Given the description of an element on the screen output the (x, y) to click on. 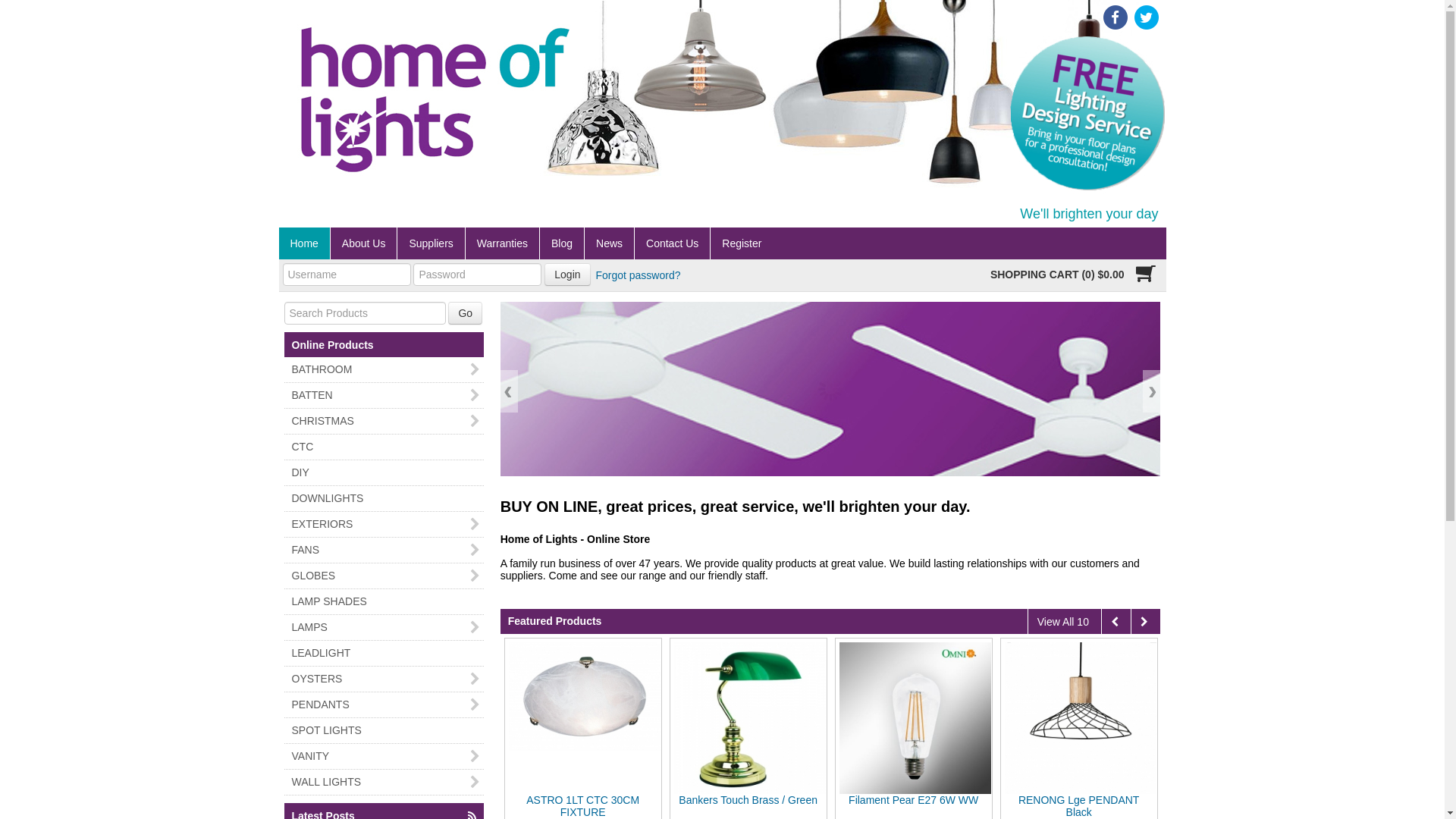
Search Products Element type: hover (465, 312)
News Element type: text (608, 243)
Blog Element type: text (561, 243)
LAMPS Element type: text (383, 627)
Contact Us Element type: text (671, 243)
ASTRO 1LT CTC 30CM FIXTURE Element type: text (747, 805)
CTC Element type: text (383, 446)
Forgot password? Element type: text (637, 275)
DOWNLIGHTS Element type: text (383, 498)
SPOT LIGHTS Element type: text (383, 730)
HELEN WALL LIGHT + SWITCH BLACK Element type: text (582, 805)
BATTEN Element type: text (383, 394)
Online Products Element type: text (332, 341)
Go Element type: text (465, 312)
DIY Element type: text (383, 472)
Home Element type: text (304, 243)
Bankers Touch Brass / Green - Click for more info Element type: hover (749, 717)
Login Element type: text (566, 274)
Bankers Touch Brass / Green Element type: text (913, 799)
PENDANTS Element type: text (383, 704)
LAMP SHADES Element type: text (383, 601)
OYSTERS Element type: text (383, 678)
VANITY Element type: text (383, 755)
EXTERIORS Element type: text (383, 523)
Warranties Element type: text (502, 243)
CHRISTMAS Element type: text (383, 420)
RENONG Lge PENDANT Black - Click for more info Element type: hover (1080, 717)
Suppliers Element type: text (430, 243)
LEADLIGHT Element type: text (383, 652)
WALL LIGHTS Element type: text (383, 781)
GLOBES Element type: text (383, 575)
Filament Pear E27 6W WW Element type: text (1078, 799)
FANS Element type: text (383, 549)
BATHROOM Element type: text (383, 369)
ASTRO 1LT CTC 30CM FIXTURE - Click for more info Element type: hover (585, 696)
Register Element type: text (741, 243)
Filament Pear E27 6W WW - Click for more info Element type: hover (915, 717)
About Us Element type: text (363, 243)
The Home Of Lights Home Element type: hover (365, 170)
View All 10 Element type: text (1062, 620)
